Given the description of an element on the screen output the (x, y) to click on. 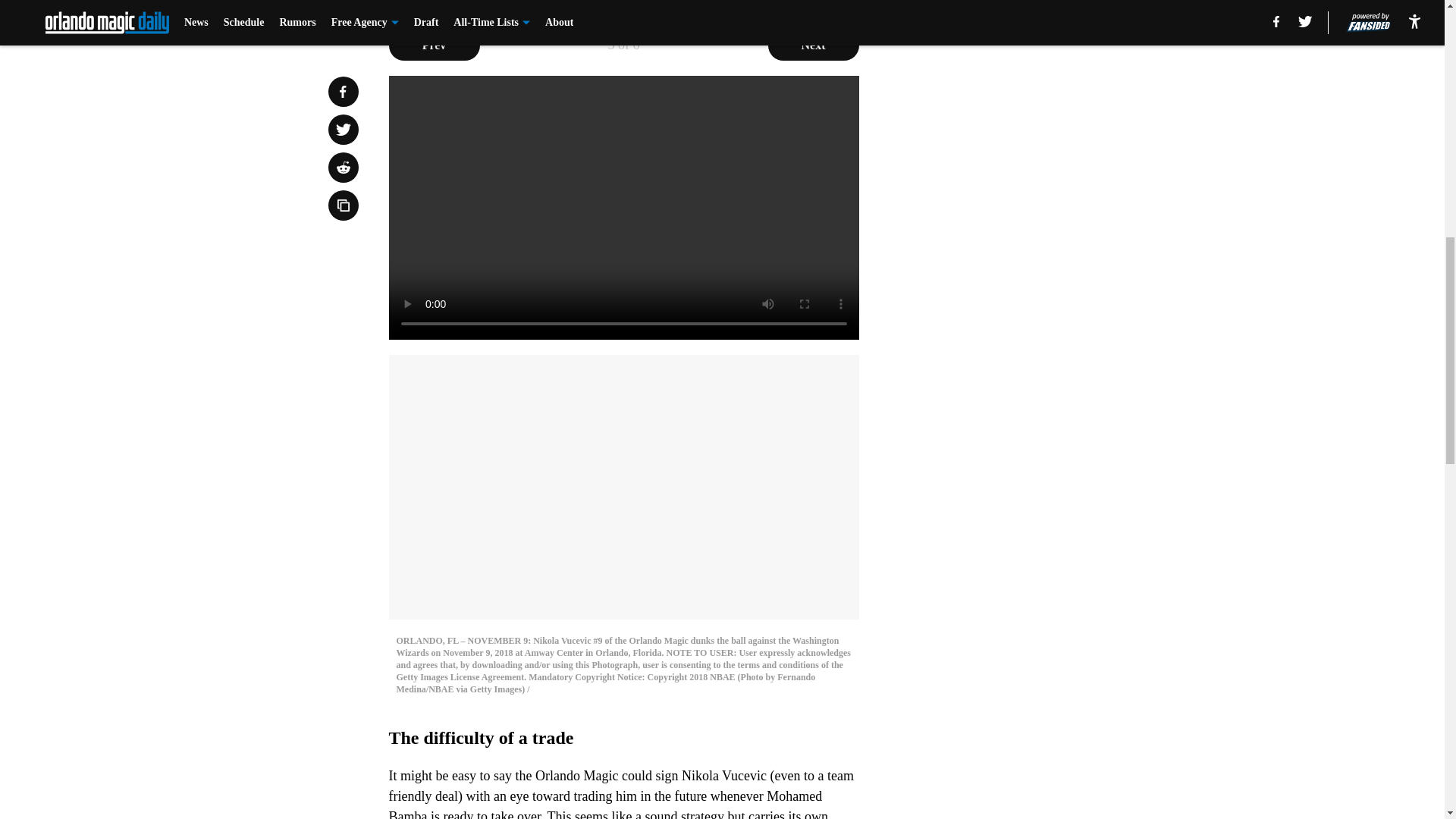
Next (813, 45)
Prev (433, 45)
3rd party ad content (1047, 125)
3rd party ad content (1047, 344)
